Given the description of an element on the screen output the (x, y) to click on. 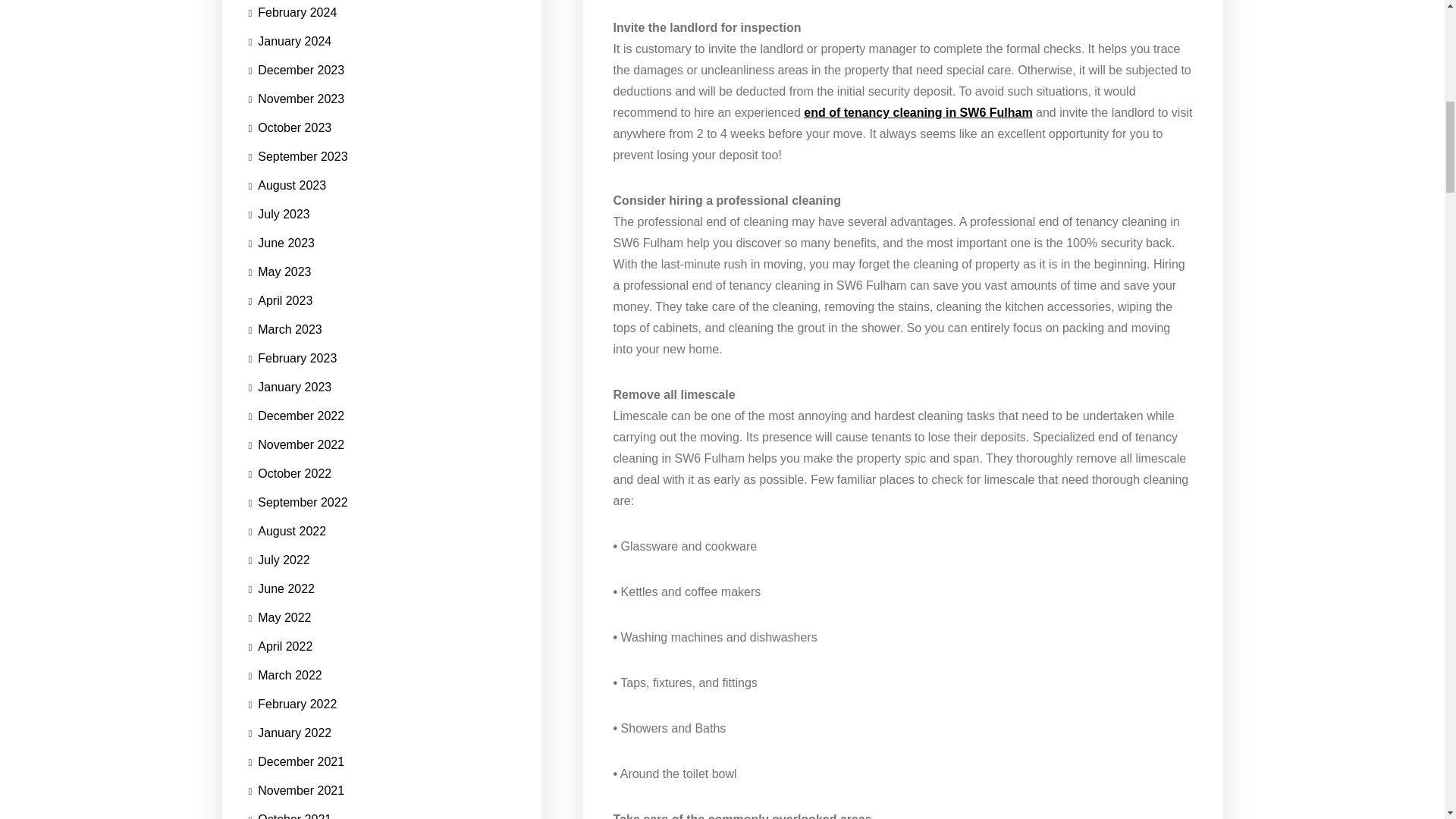
February 2024 (292, 13)
March 2023 (284, 329)
January 2023 (289, 387)
May 2023 (279, 271)
August 2023 (287, 185)
September 2023 (297, 156)
October 2022 (289, 473)
February 2023 (292, 358)
November 2023 (296, 99)
December 2023 (296, 70)
